Given the description of an element on the screen output the (x, y) to click on. 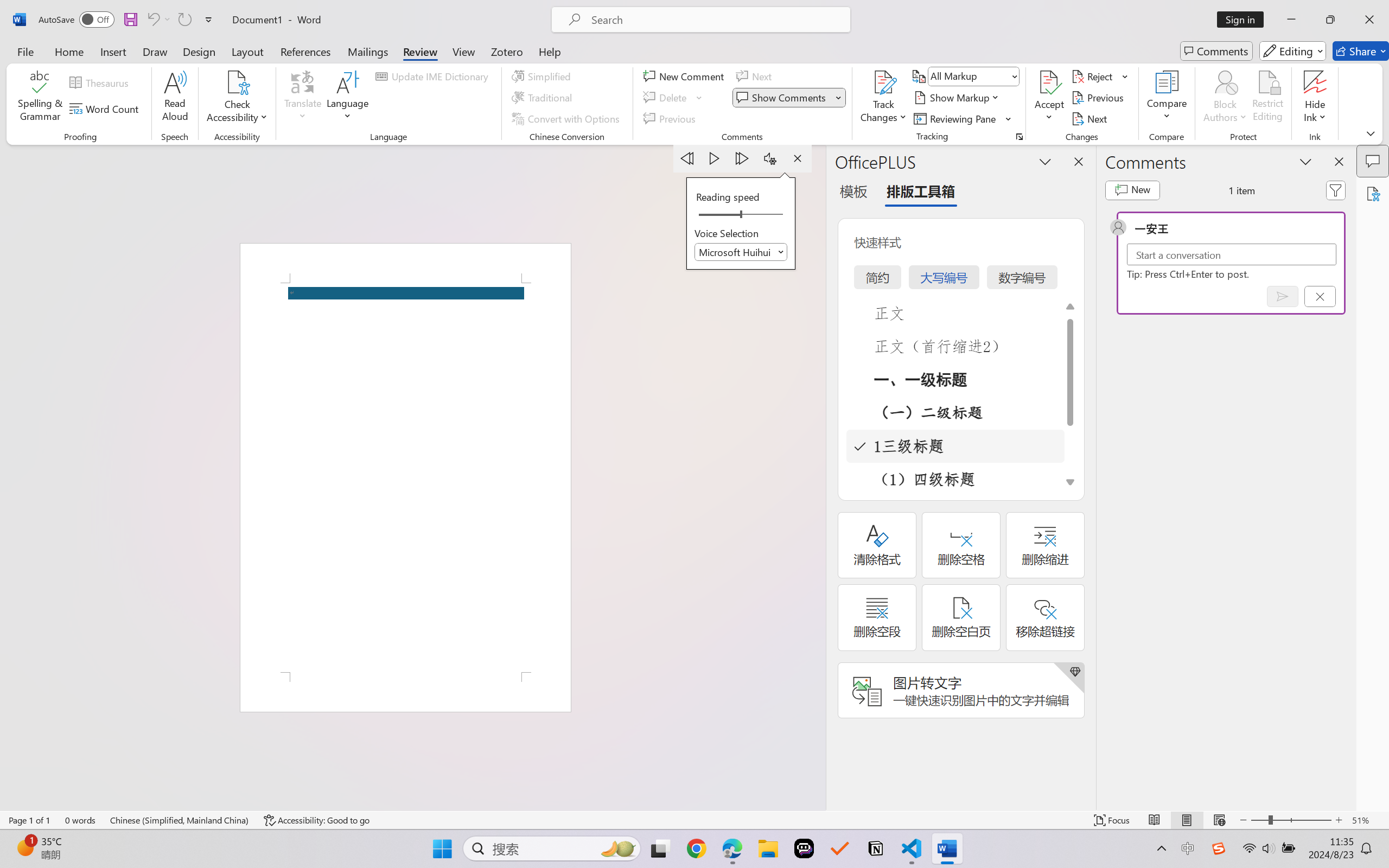
Page left (716, 214)
Previous Paragraph (687, 158)
Reviewing Pane (955, 118)
Next (1090, 118)
